Given the description of an element on the screen output the (x, y) to click on. 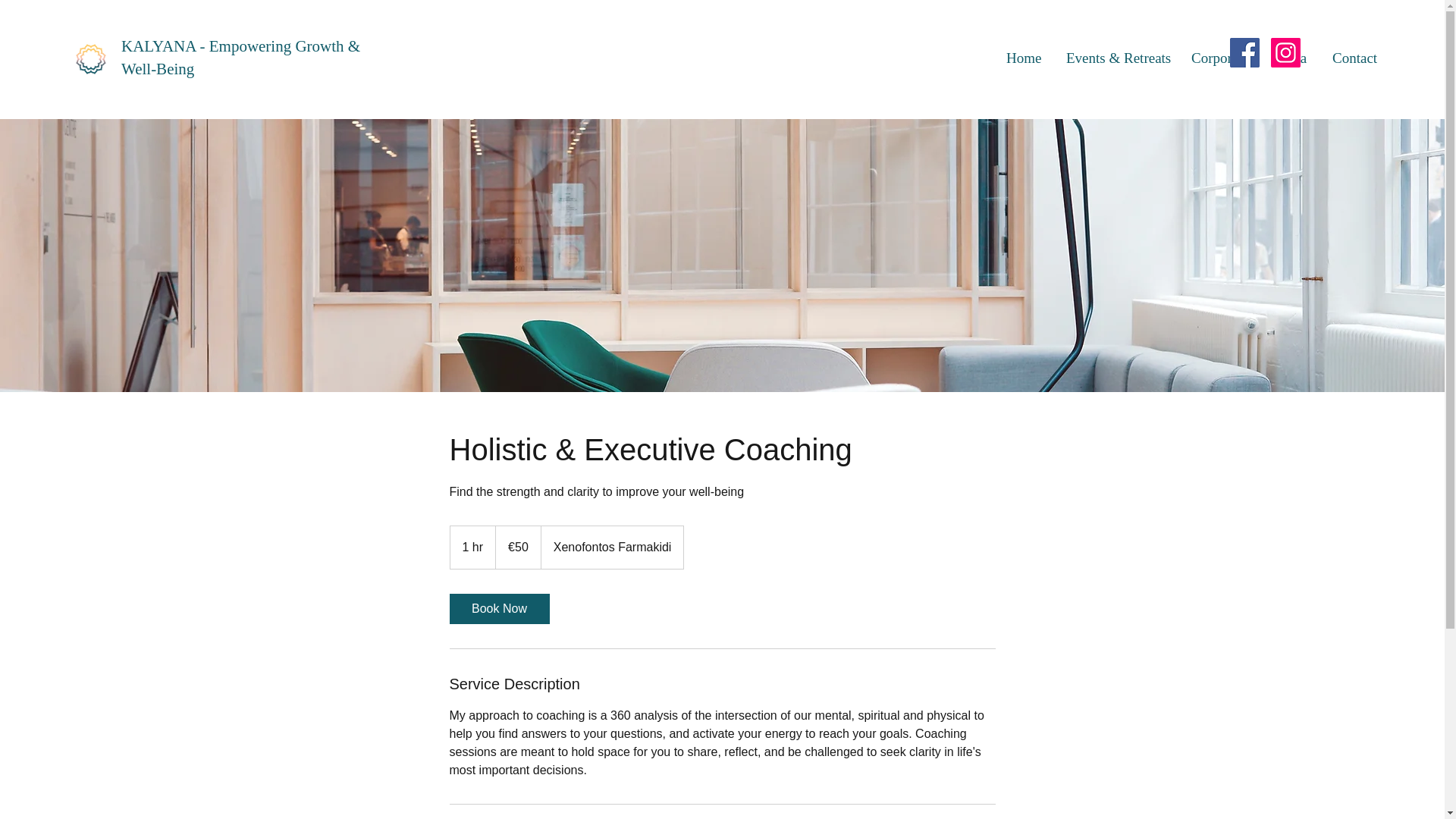
Book Now (498, 608)
Contact (1354, 57)
Home (1024, 57)
Corporate (1222, 57)
Yoga (1292, 57)
